Given the description of an element on the screen output the (x, y) to click on. 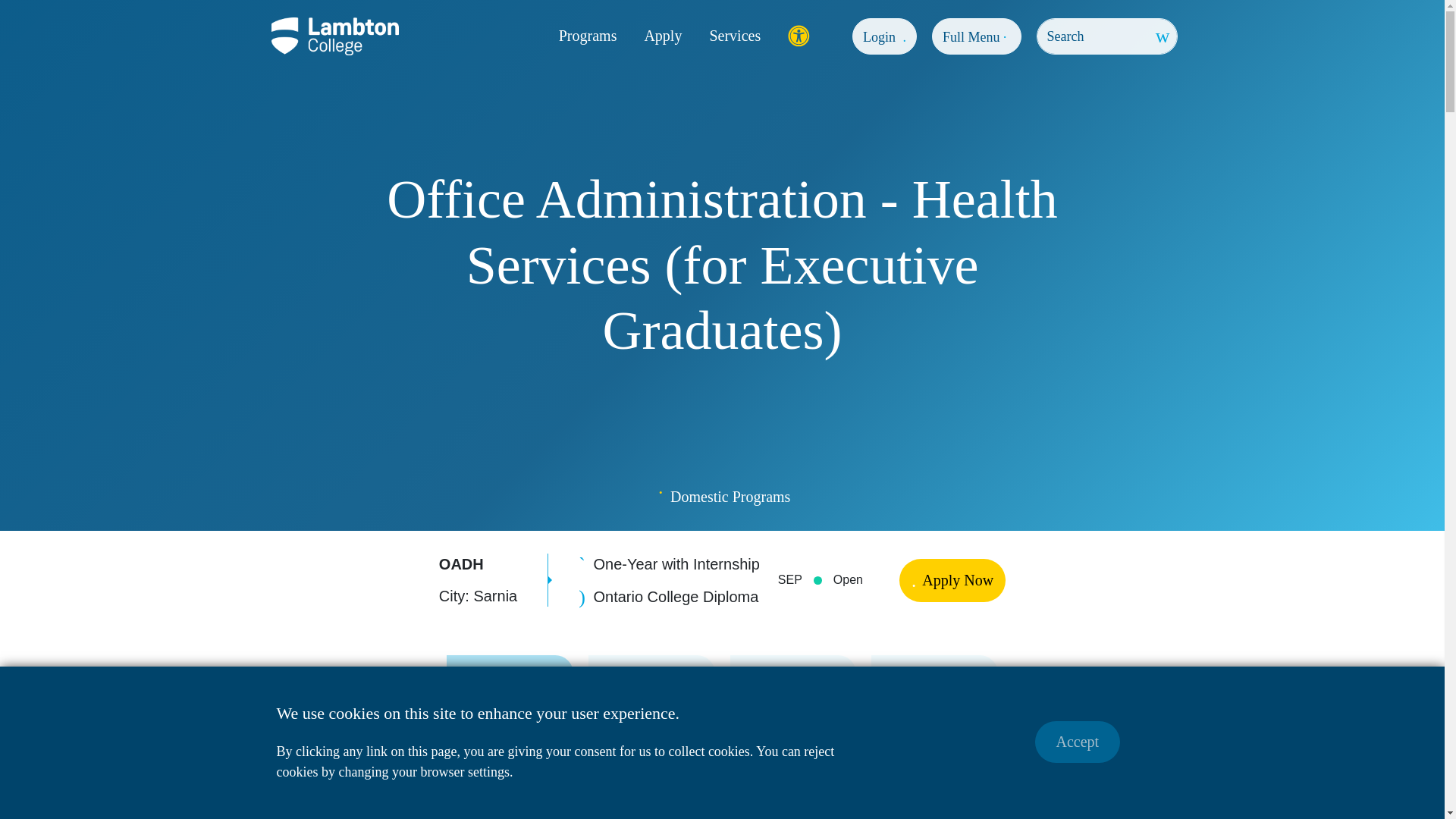
Login (884, 36)
Programs (588, 35)
Full Menu (976, 36)
Services (734, 35)
Apply Now (952, 579)
Apply (662, 35)
Domestic Programs (729, 496)
Accept (1076, 741)
Internship (651, 708)
Overview (509, 708)
More Information (933, 708)
After Graduation (792, 708)
